Given the description of an element on the screen output the (x, y) to click on. 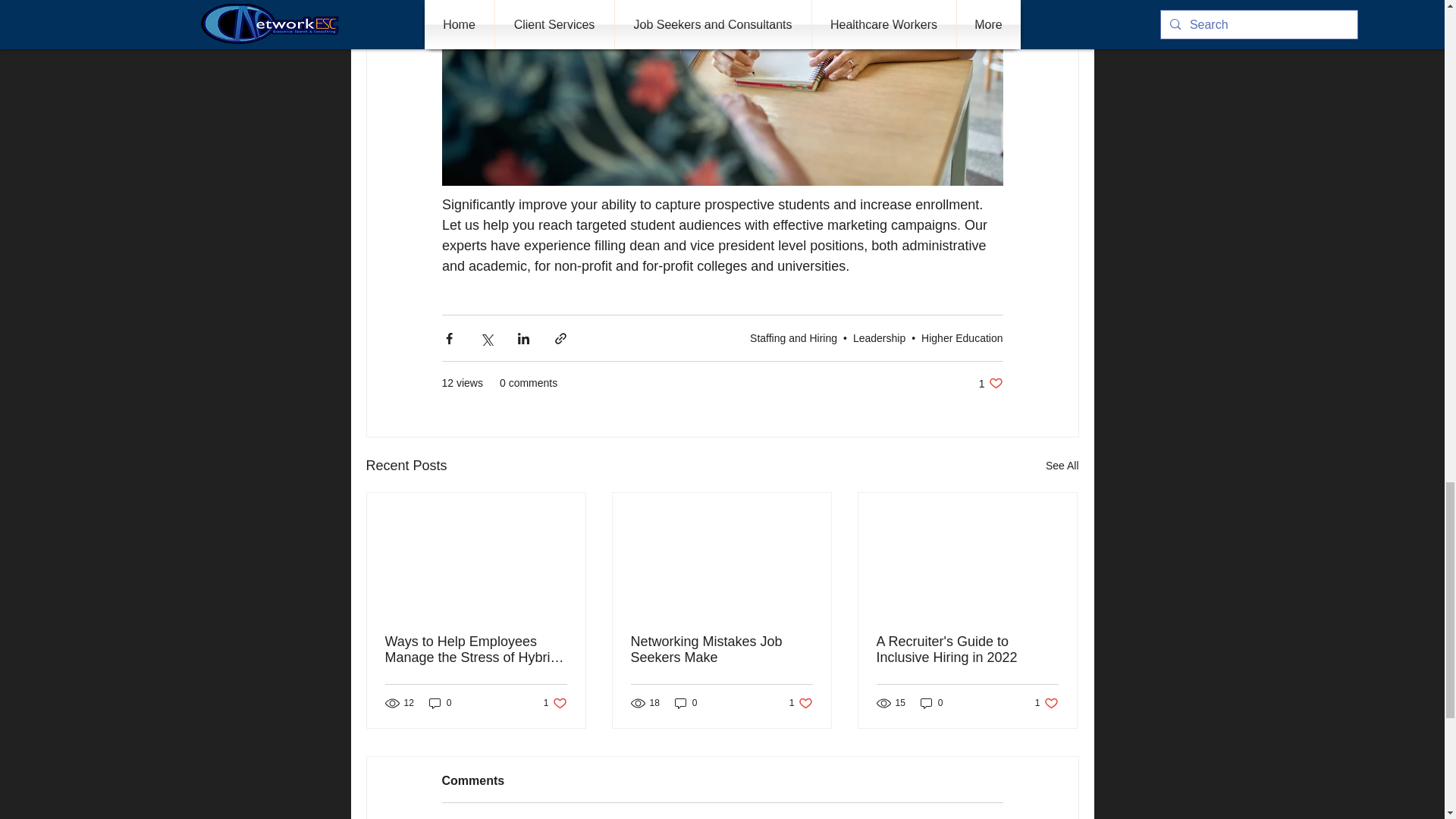
Higher Education (962, 337)
Staffing and Hiring (793, 337)
See All (1061, 465)
Leadership (990, 382)
